Given the description of an element on the screen output the (x, y) to click on. 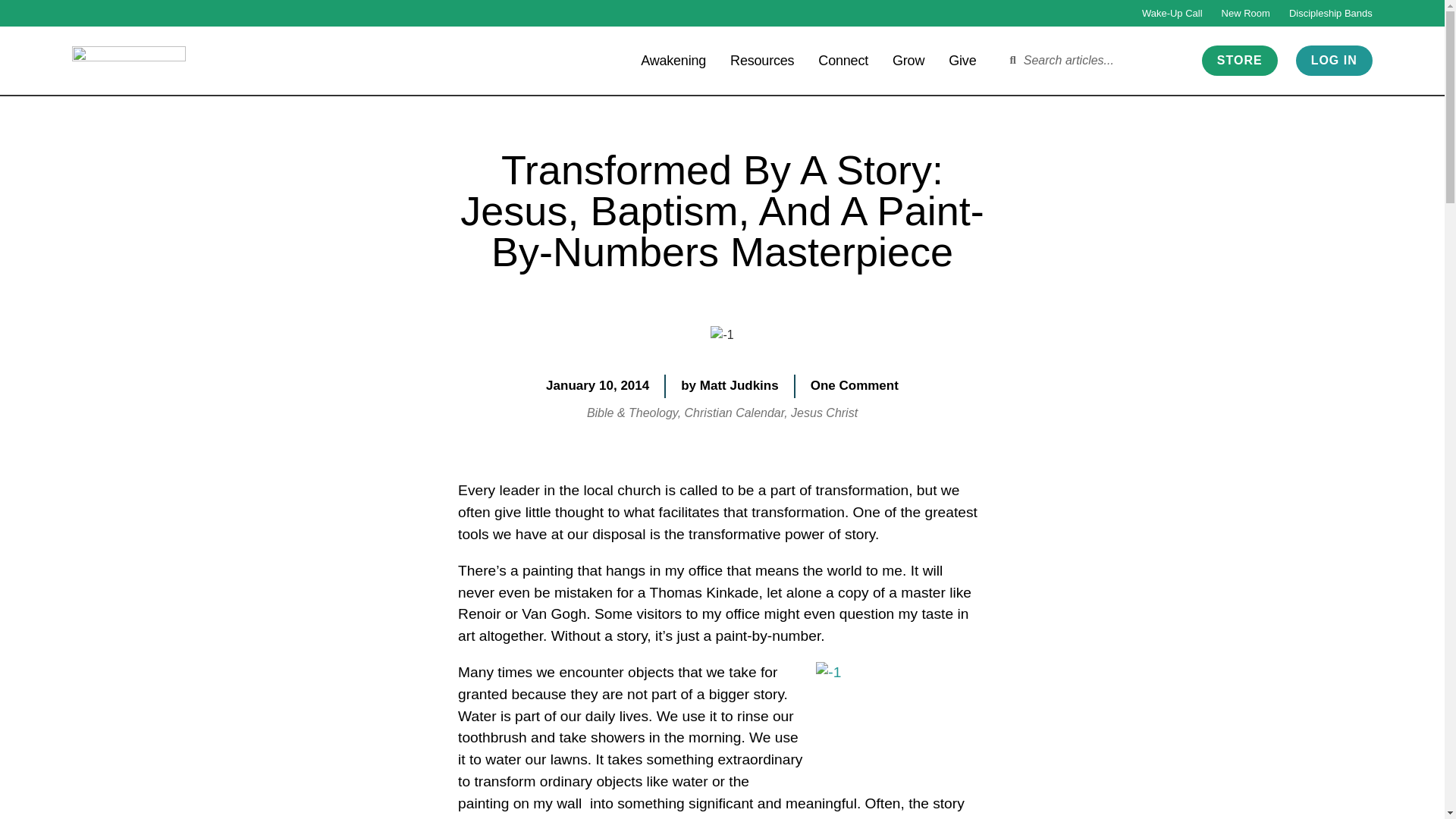
Grow (908, 59)
Discipleship Bands (1330, 13)
-1 (721, 334)
New Room (1245, 13)
Resources (761, 59)
Awakening (673, 59)
Wake-Up Call (1171, 13)
Connect (842, 59)
